Given the description of an element on the screen output the (x, y) to click on. 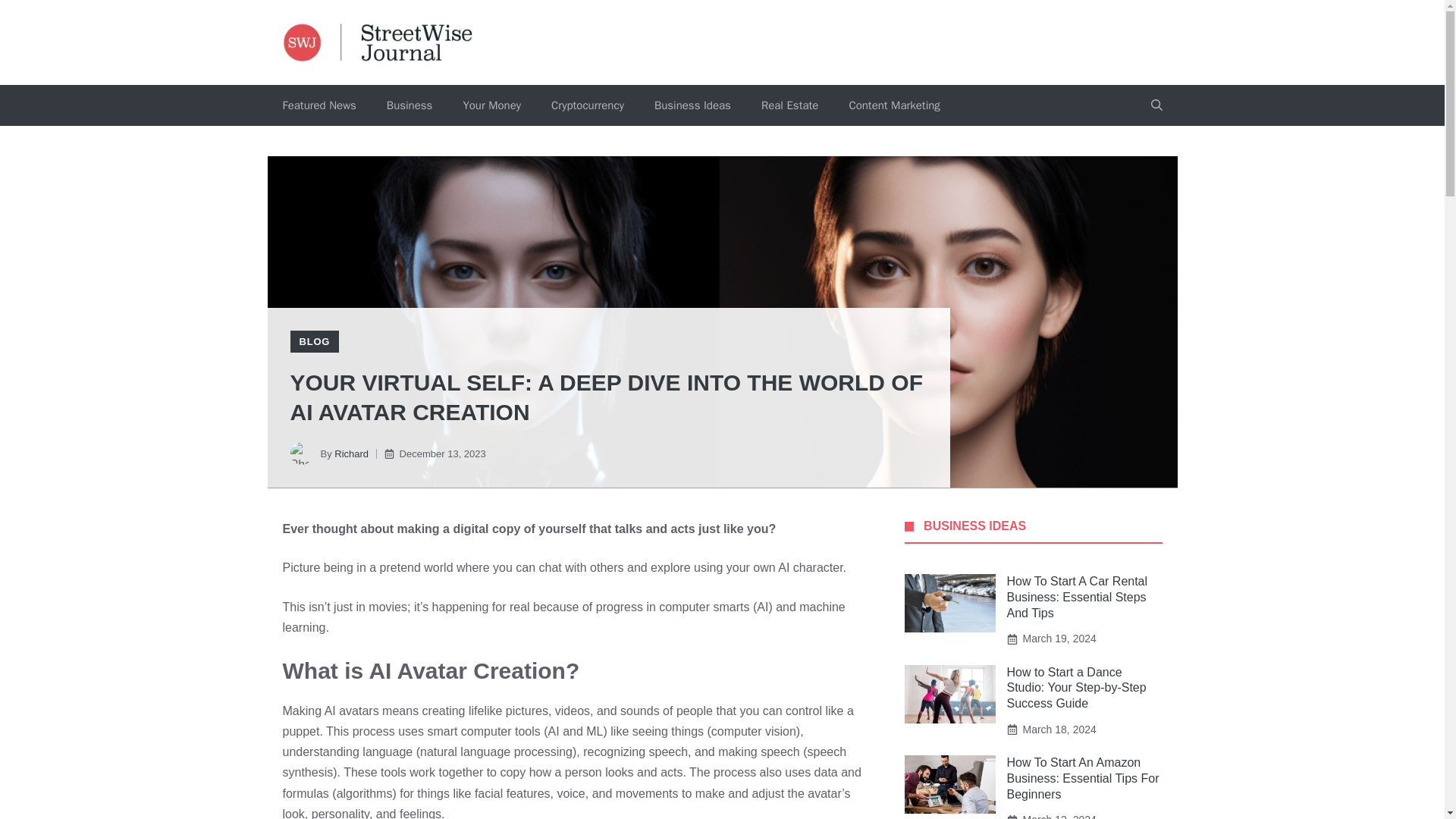
How To Start A Car Rental Business: Essential Steps And Tips (1077, 596)
BLOG (314, 341)
How to Start a Dance Studio: Your Step-by-Step Success Guide (1077, 687)
Featured News (318, 105)
Cryptocurrency (587, 105)
Business Ideas (692, 105)
Richard (351, 453)
Content Marketing (893, 105)
Real Estate (788, 105)
